Given the description of an element on the screen output the (x, y) to click on. 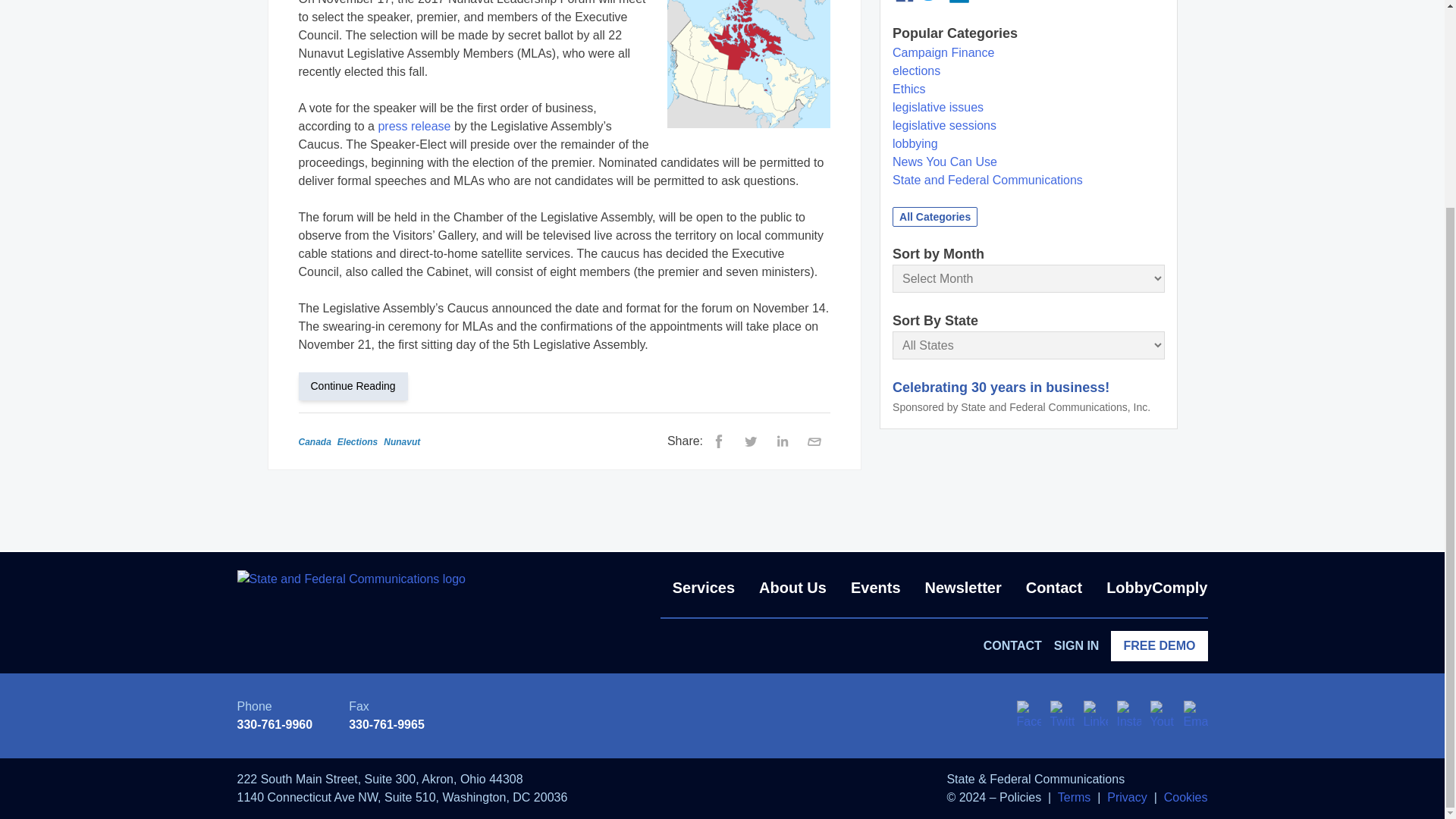
Elections (357, 441)
Continue Reading (359, 385)
legislative issues (938, 106)
legislative sessions (943, 124)
press release (413, 125)
Nunavut (402, 441)
Campaign Finance (943, 51)
Canada (314, 441)
elections (916, 70)
Ethics (909, 88)
